Given the description of an element on the screen output the (x, y) to click on. 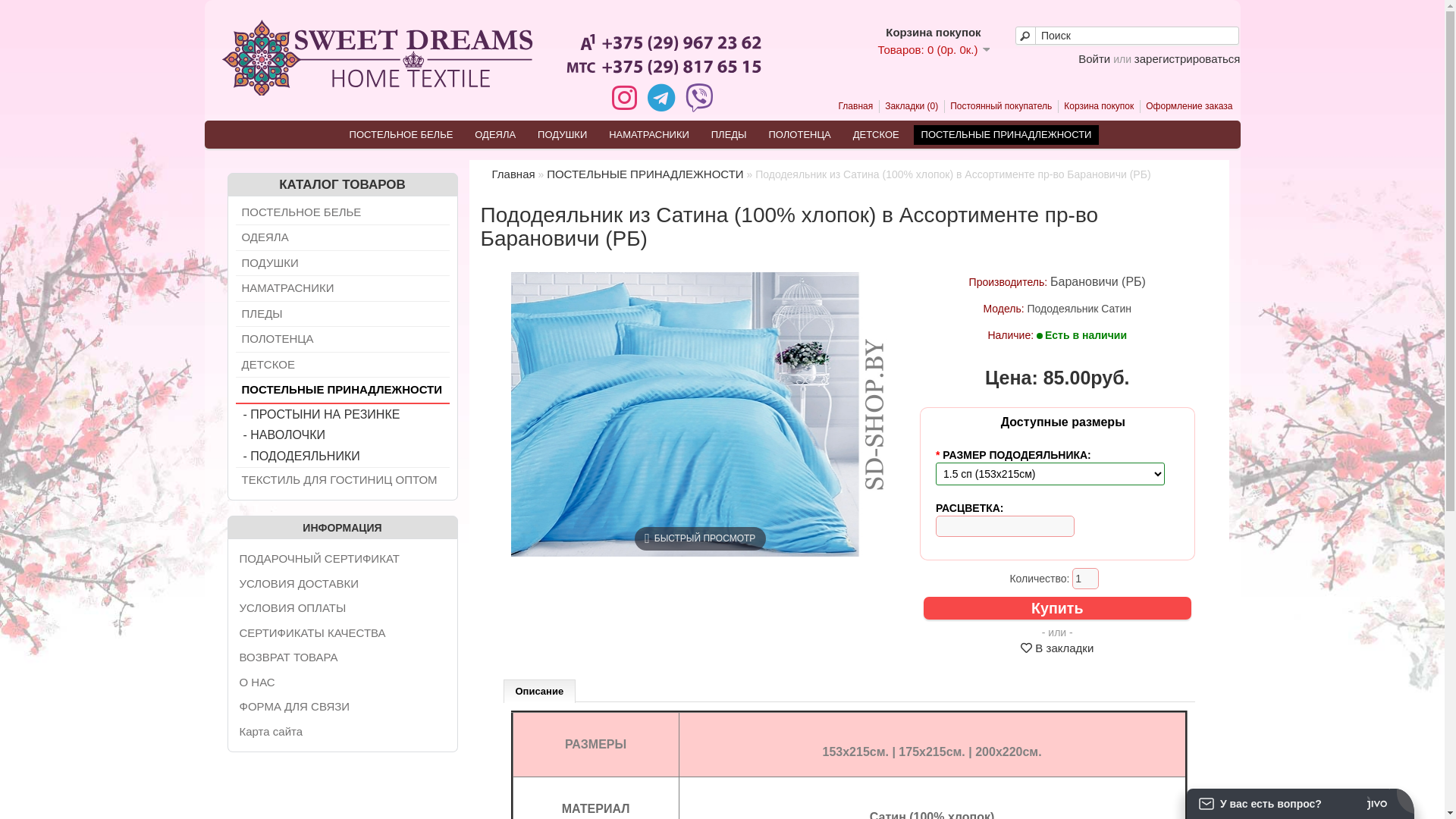
+37529 967 23 62 Element type: hover (663, 49)
